Given the description of an element on the screen output the (x, y) to click on. 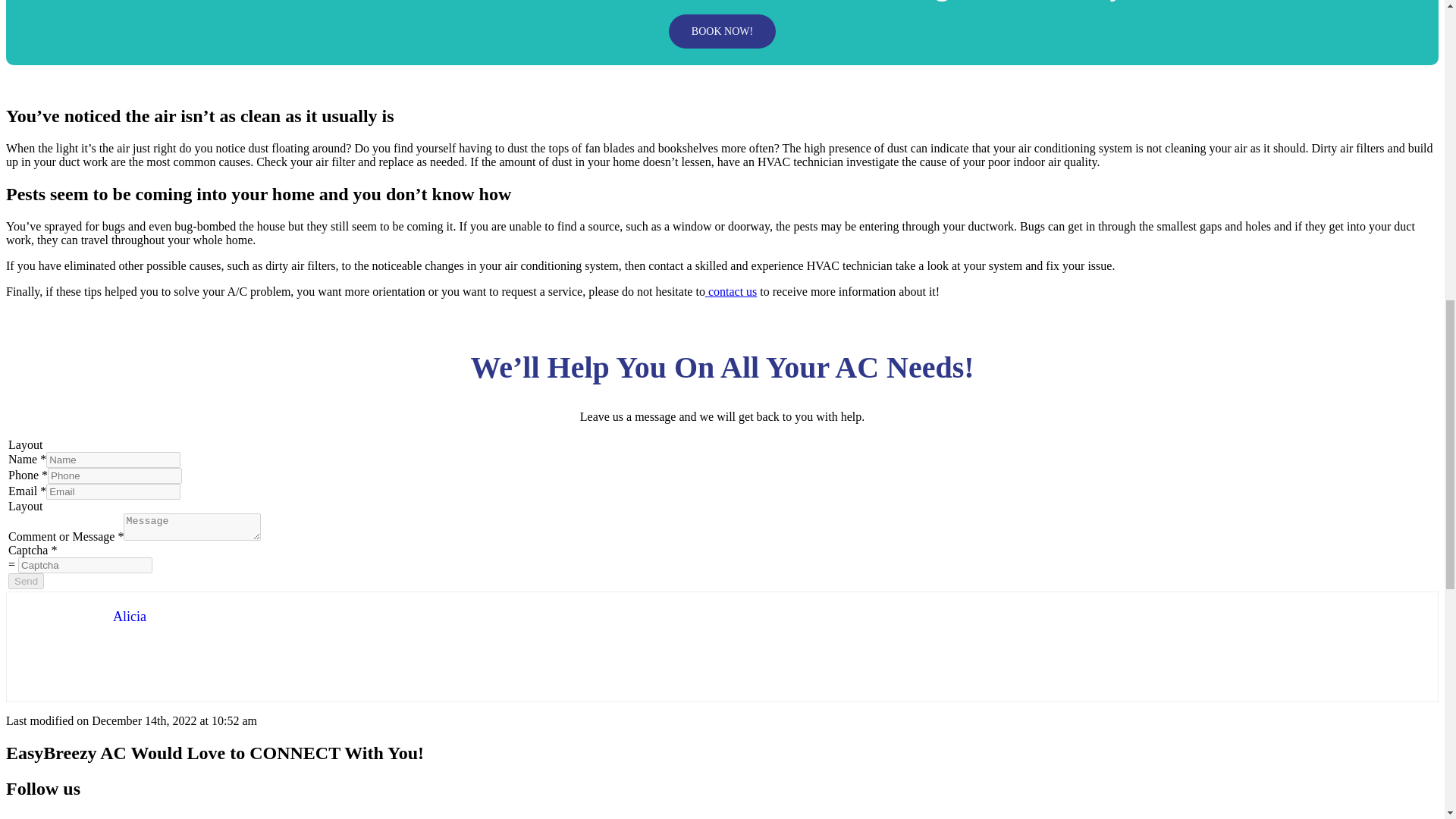
contact us (730, 291)
Alicia (130, 616)
BOOK NOW! (722, 31)
Send (25, 580)
